Given the description of an element on the screen output the (x, y) to click on. 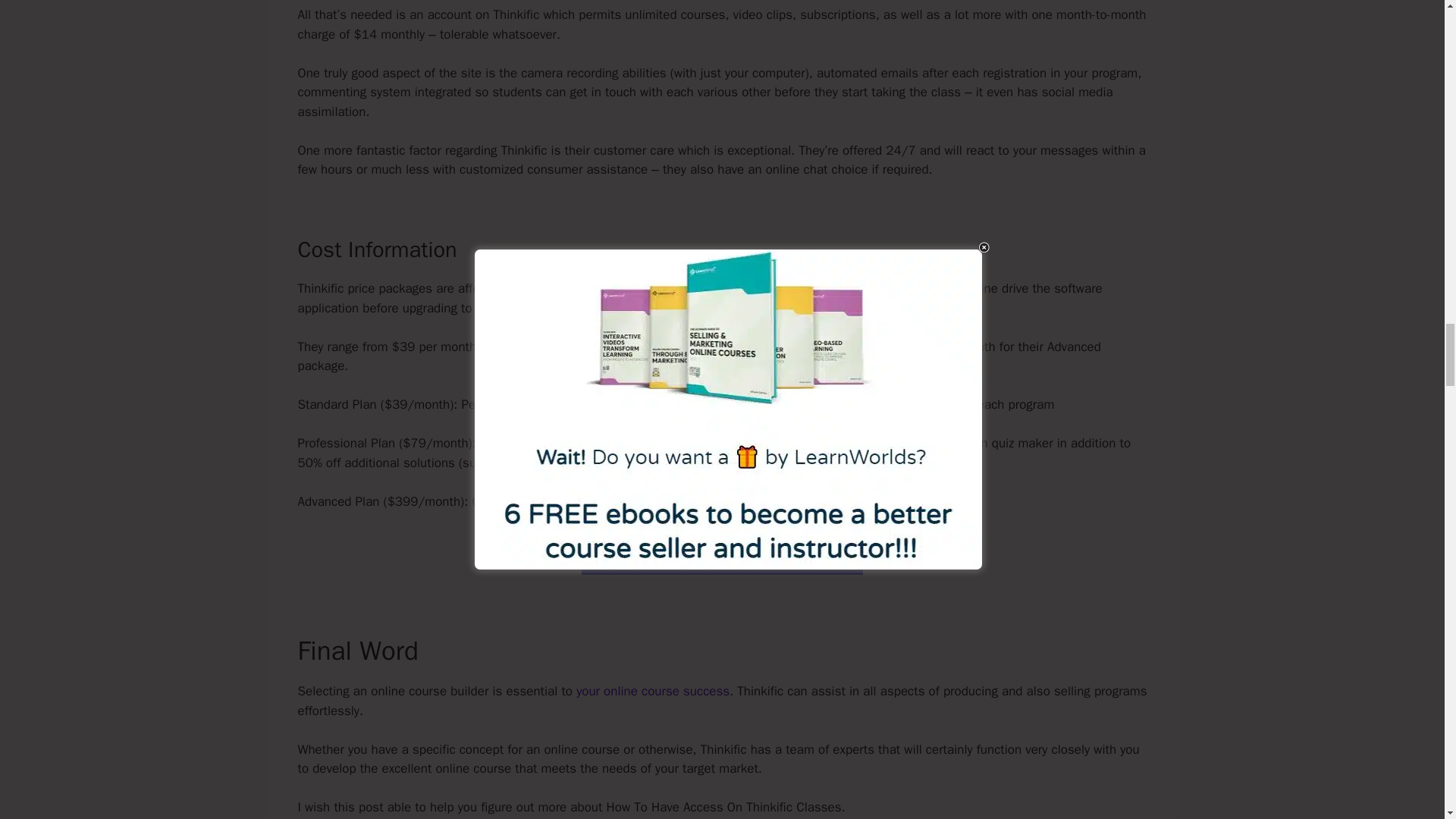
a complimentary trial (616, 288)
Visit Here For Detailed Pricing (721, 553)
your online course success (652, 691)
